Given the description of an element on the screen output the (x, y) to click on. 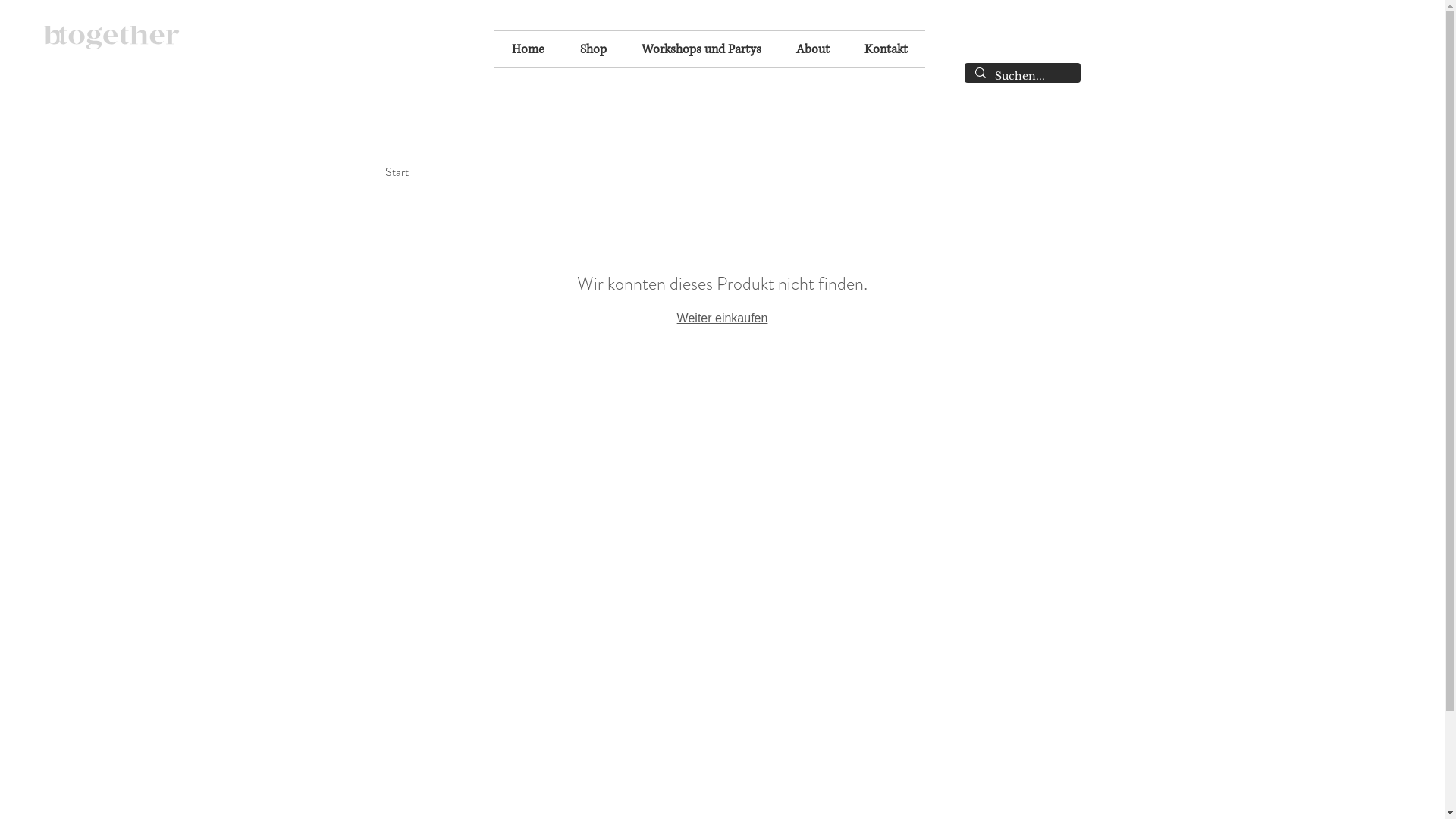
Weiter einkaufen Element type: text (722, 317)
Shop Element type: text (592, 49)
Workshops und Partys Element type: text (701, 49)
Start Element type: text (396, 171)
Kontakt Element type: text (886, 49)
Home Element type: text (527, 49)
About Element type: text (812, 49)
